Given the description of an element on the screen output the (x, y) to click on. 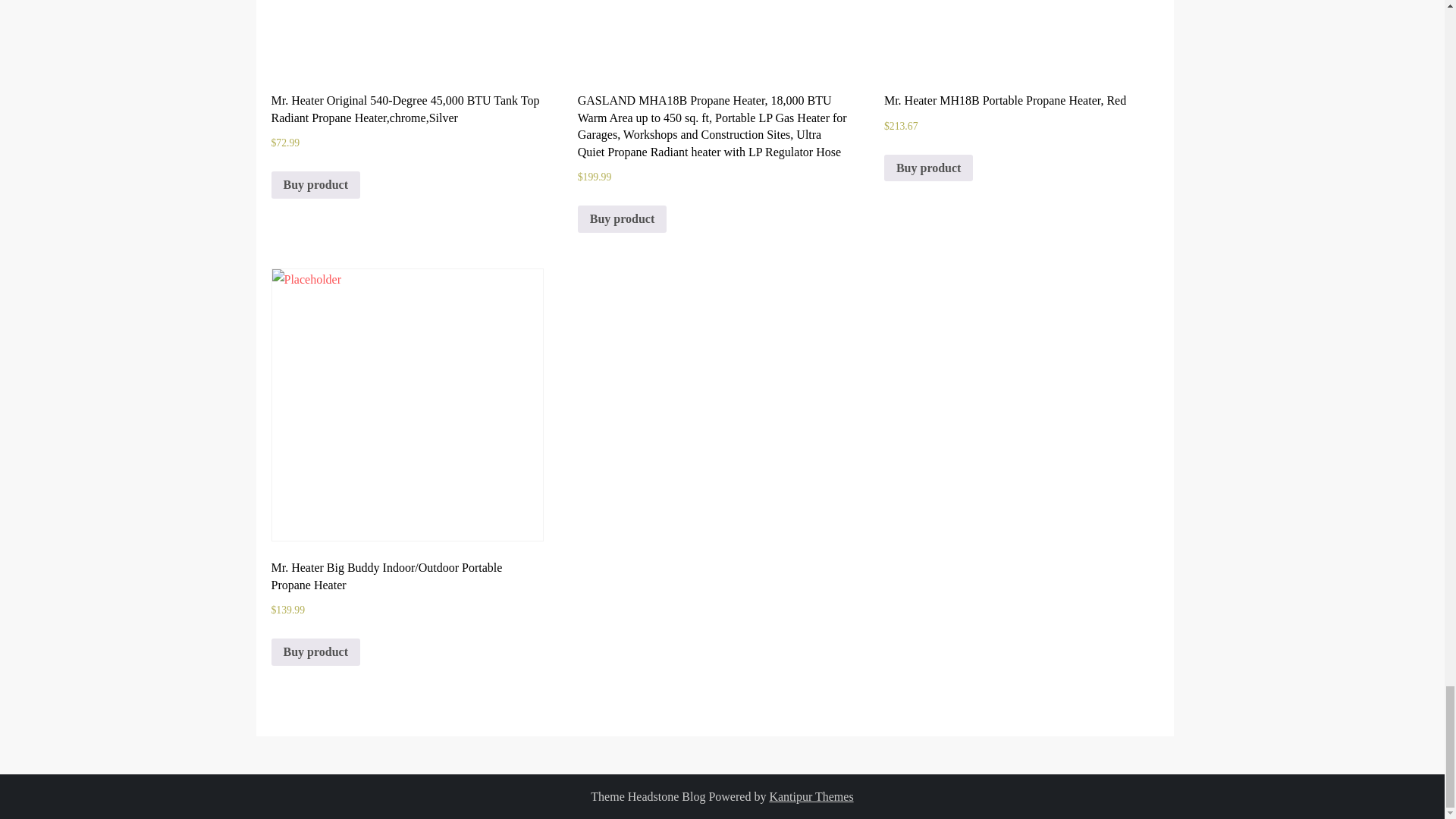
Buy product (315, 651)
Buy product (622, 218)
Buy product (315, 185)
Buy product (928, 167)
